Given the description of an element on the screen output the (x, y) to click on. 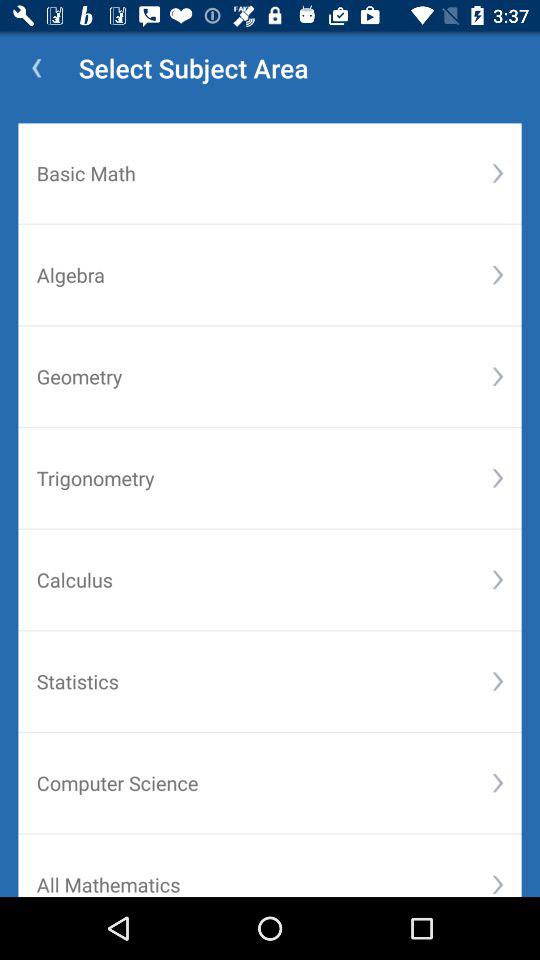
turn off icon next to the basic math item (497, 173)
